Given the description of an element on the screen output the (x, y) to click on. 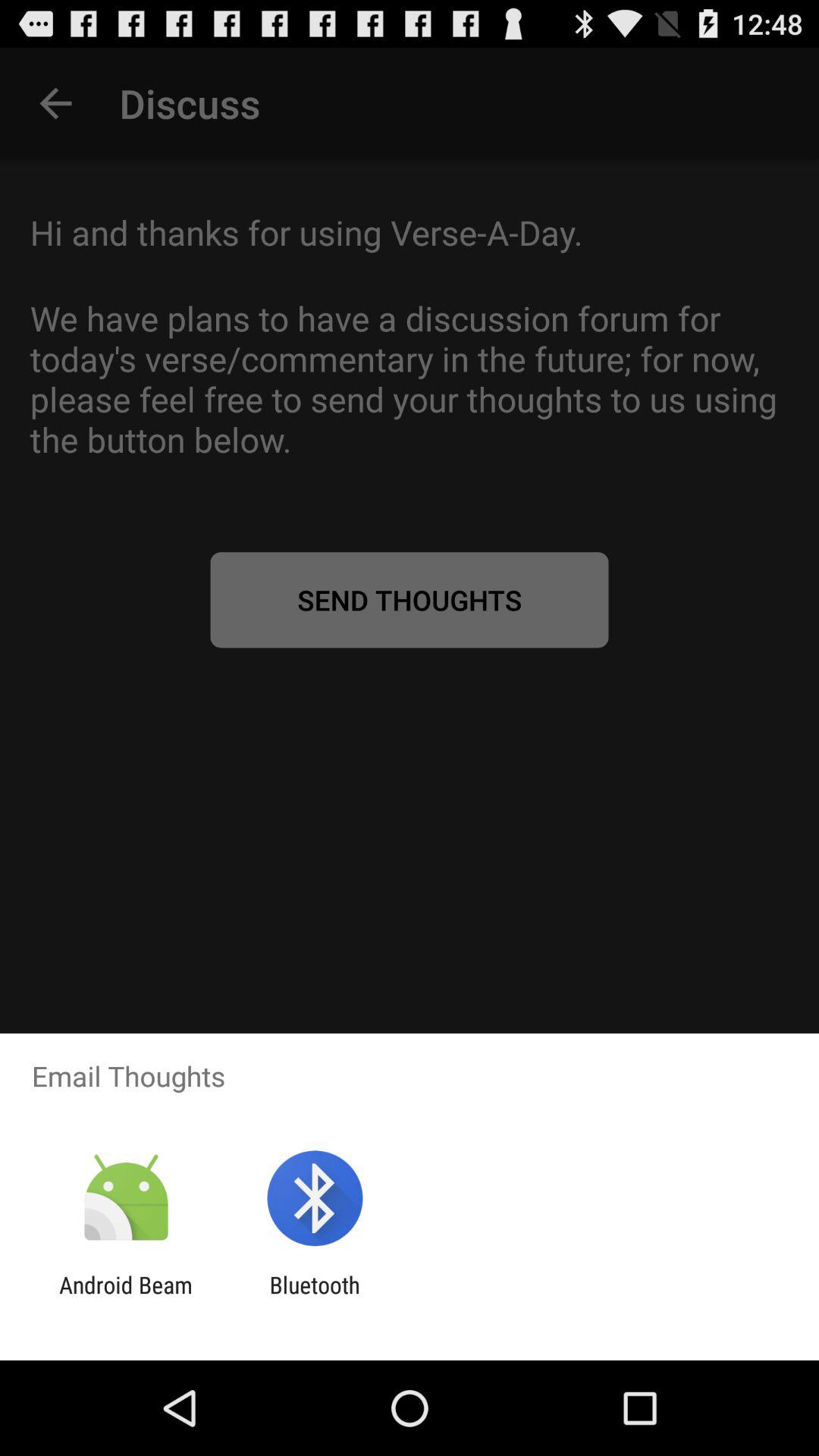
select the android beam app (125, 1298)
